Given the description of an element on the screen output the (x, y) to click on. 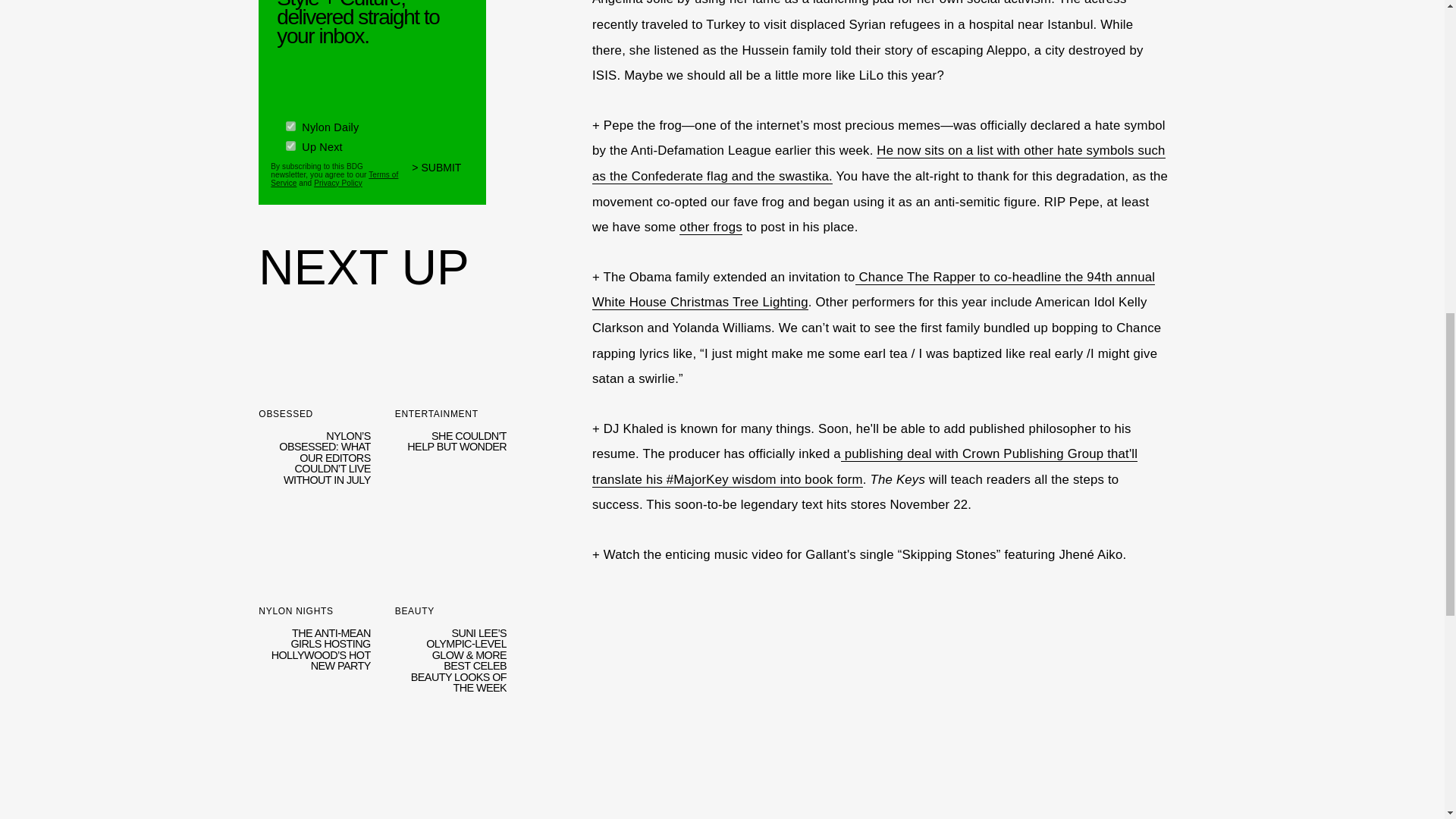
SUBMIT (443, 174)
other frogs (710, 227)
Privacy Policy (338, 182)
Terms of Service (333, 177)
